Given the description of an element on the screen output the (x, y) to click on. 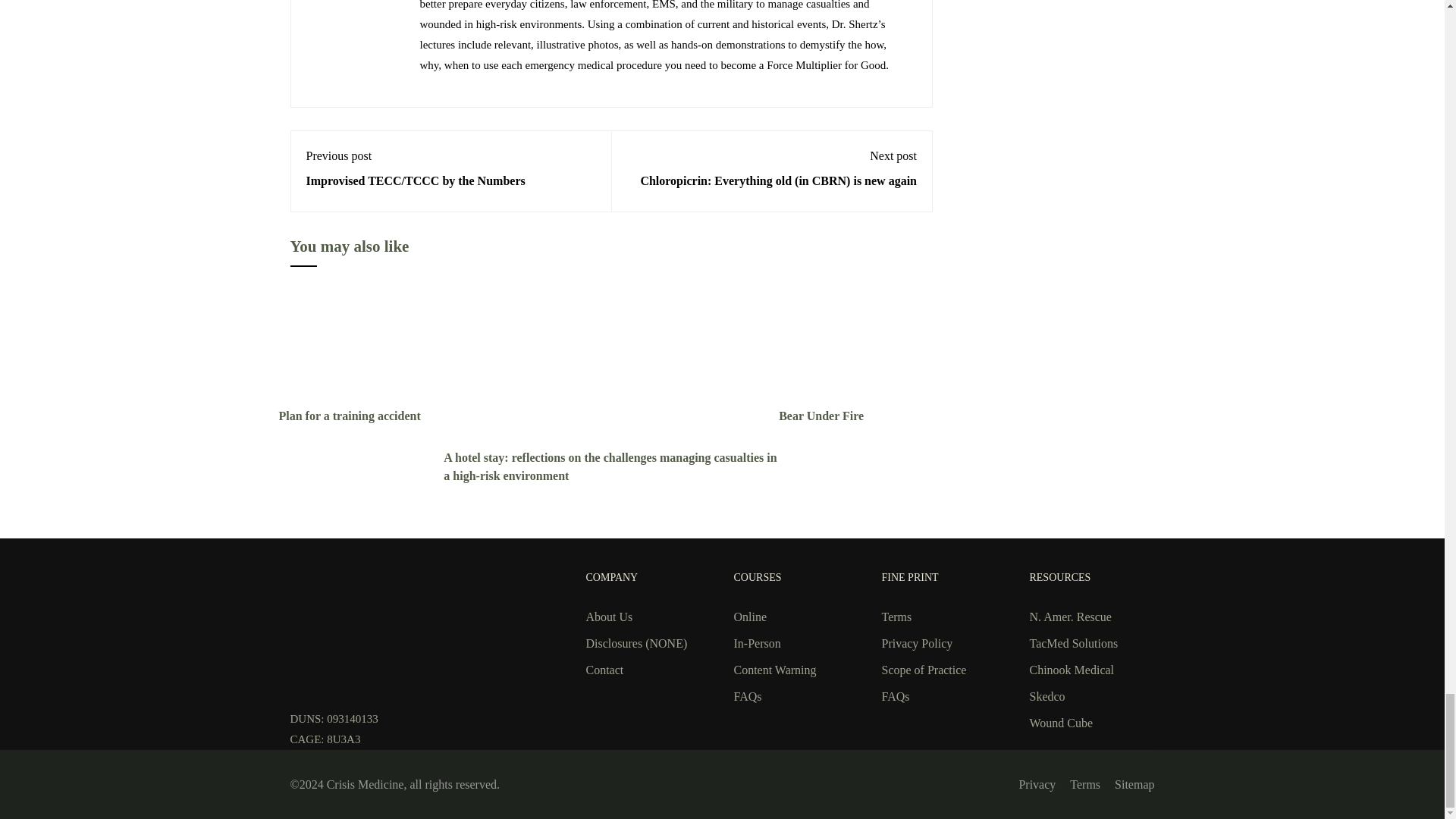
Plan for a training accident (361, 342)
2020 04 28 Whenninjasattack (860, 344)
Bear Under Fire (860, 342)
Jakarta Marriott (557, 365)
